Given the description of an element on the screen output the (x, y) to click on. 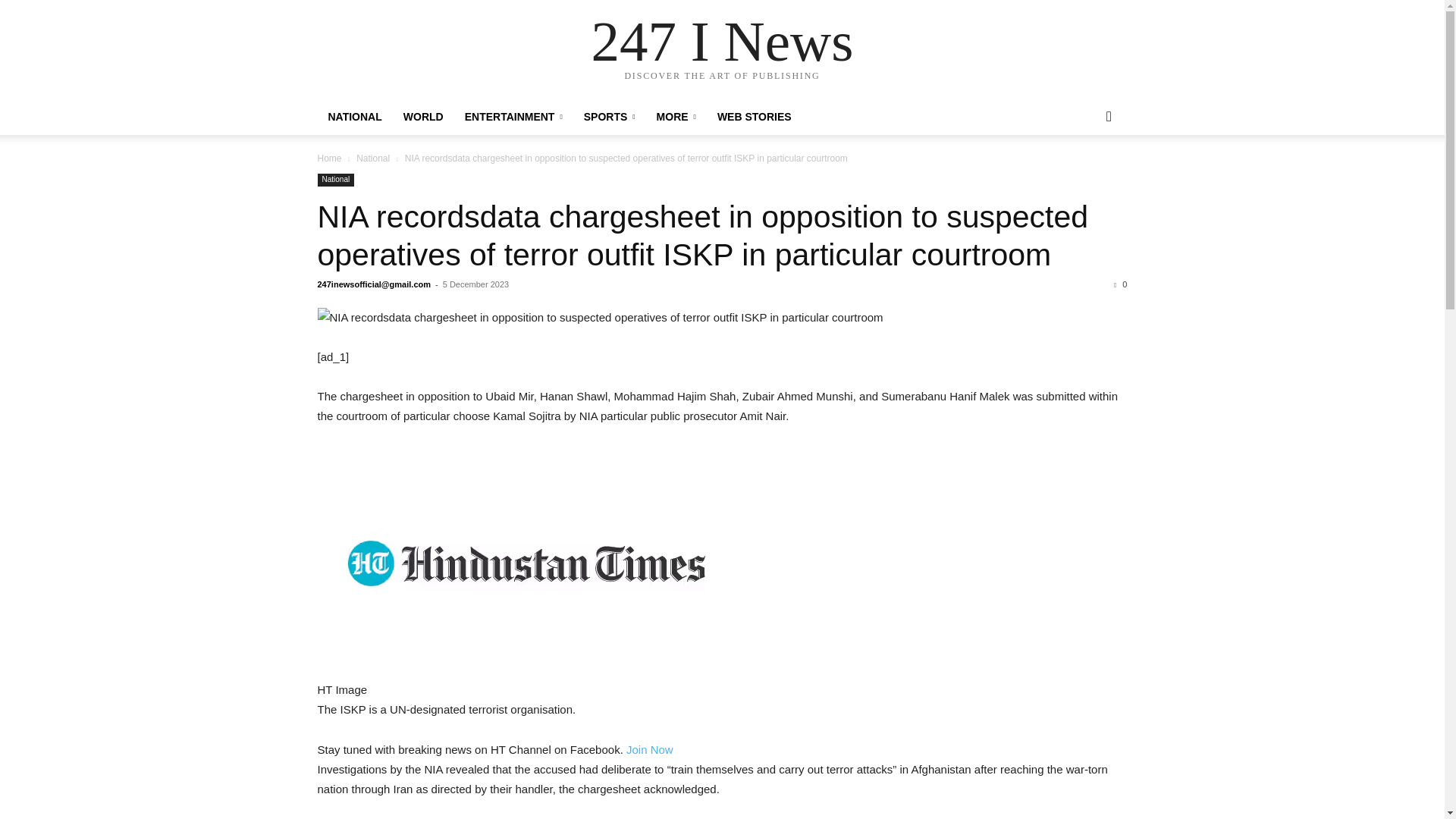
MORE (676, 116)
WEB STORIES (754, 116)
National (335, 179)
SPORTS (609, 116)
Home (328, 158)
View all posts in National (373, 158)
NATIONAL (354, 116)
National (373, 158)
HT Image (525, 562)
WORLD (423, 116)
